Given the description of an element on the screen output the (x, y) to click on. 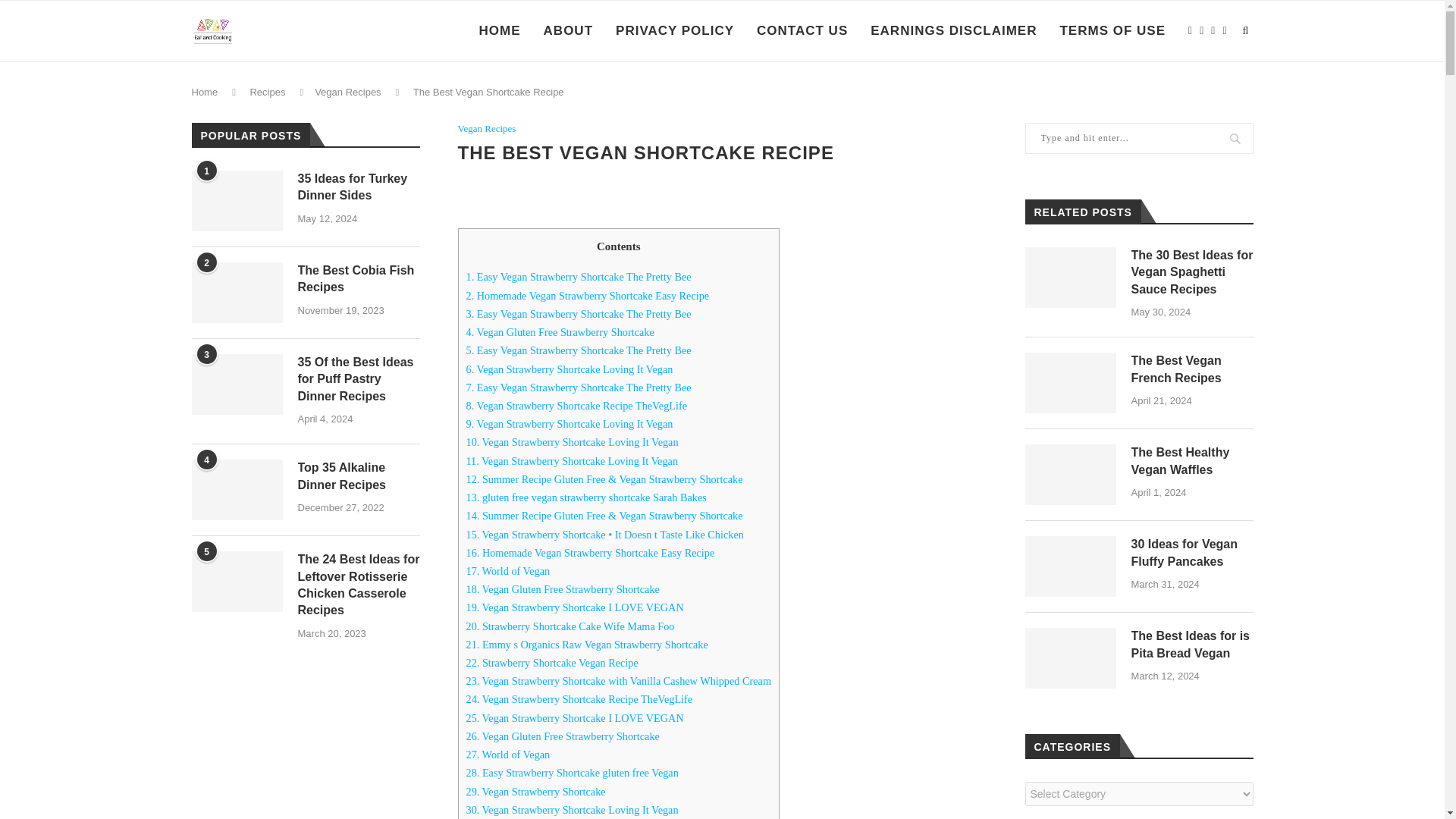
7. Easy Vegan Strawberry Shortcake The Pretty Bee (577, 387)
5. Easy Vegan Strawberry Shortcake The Pretty Bee (577, 349)
1. Easy Vegan Strawberry Shortcake The Pretty Bee (577, 276)
Vegan Recipes (347, 91)
Vegan Recipes (487, 128)
Home (203, 91)
3. Easy Vegan Strawberry Shortcake The Pretty Bee (577, 313)
TERMS OF USE (1112, 30)
9. Vegan Strawberry Shortcake Loving It Vegan (568, 423)
EARNINGS DISCLAIMER (953, 30)
